Given the description of an element on the screen output the (x, y) to click on. 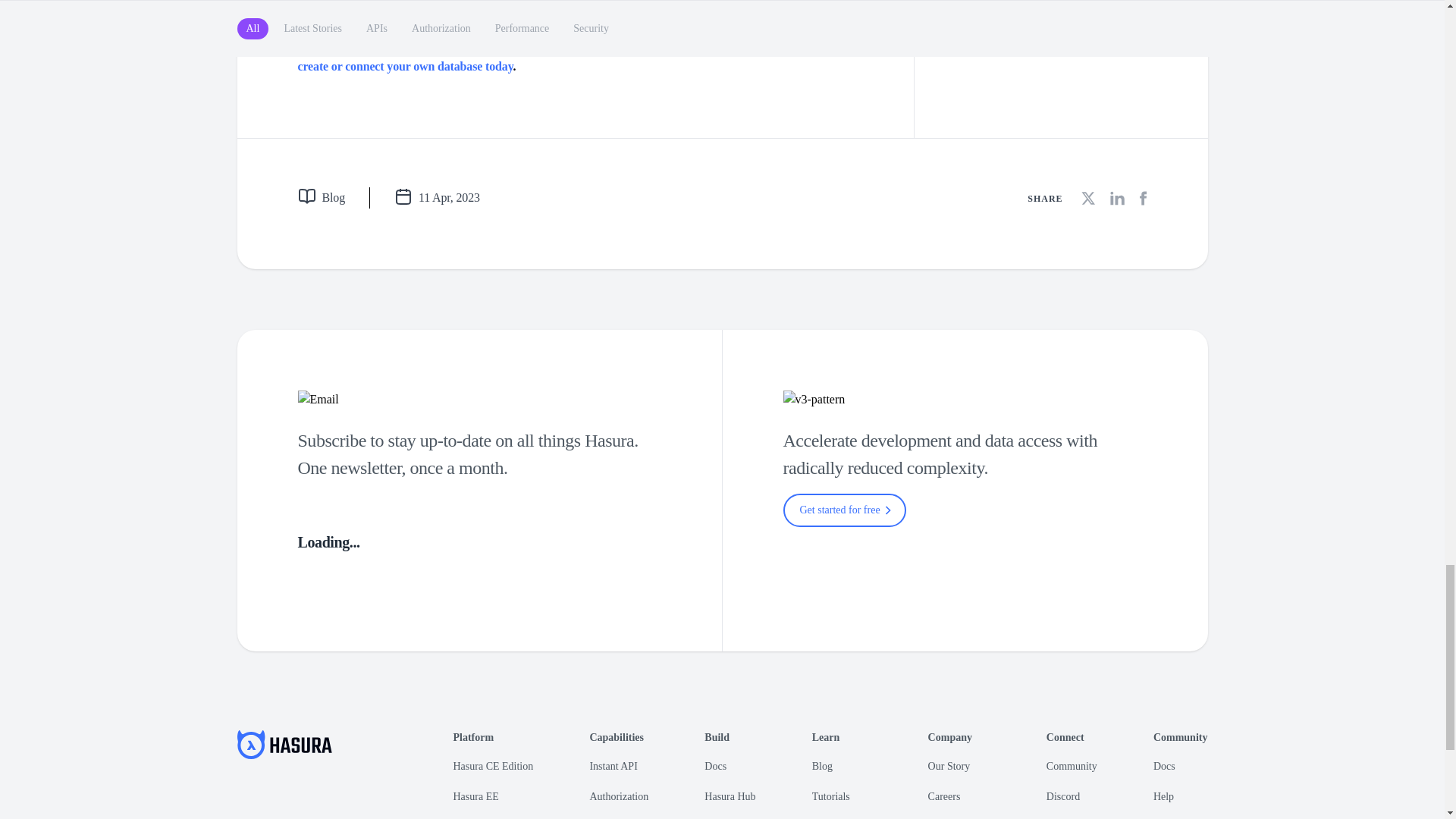
create or connect your own database today (404, 65)
